Given the description of an element on the screen output the (x, y) to click on. 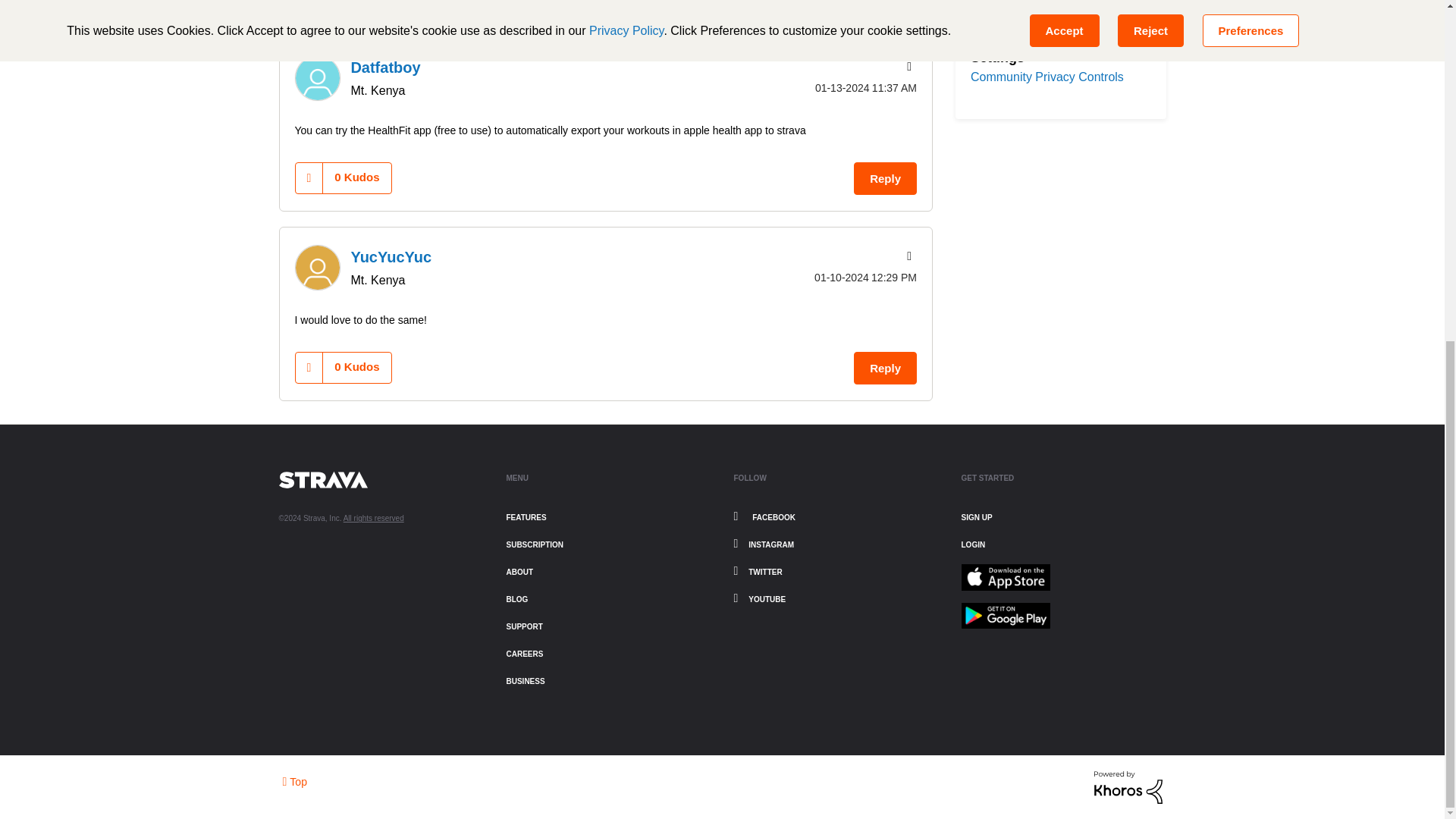
Old activities got data errased (804, 2)
Top (293, 780)
Devices and Connections (710, 2)
Top (293, 780)
